Given the description of an element on the screen output the (x, y) to click on. 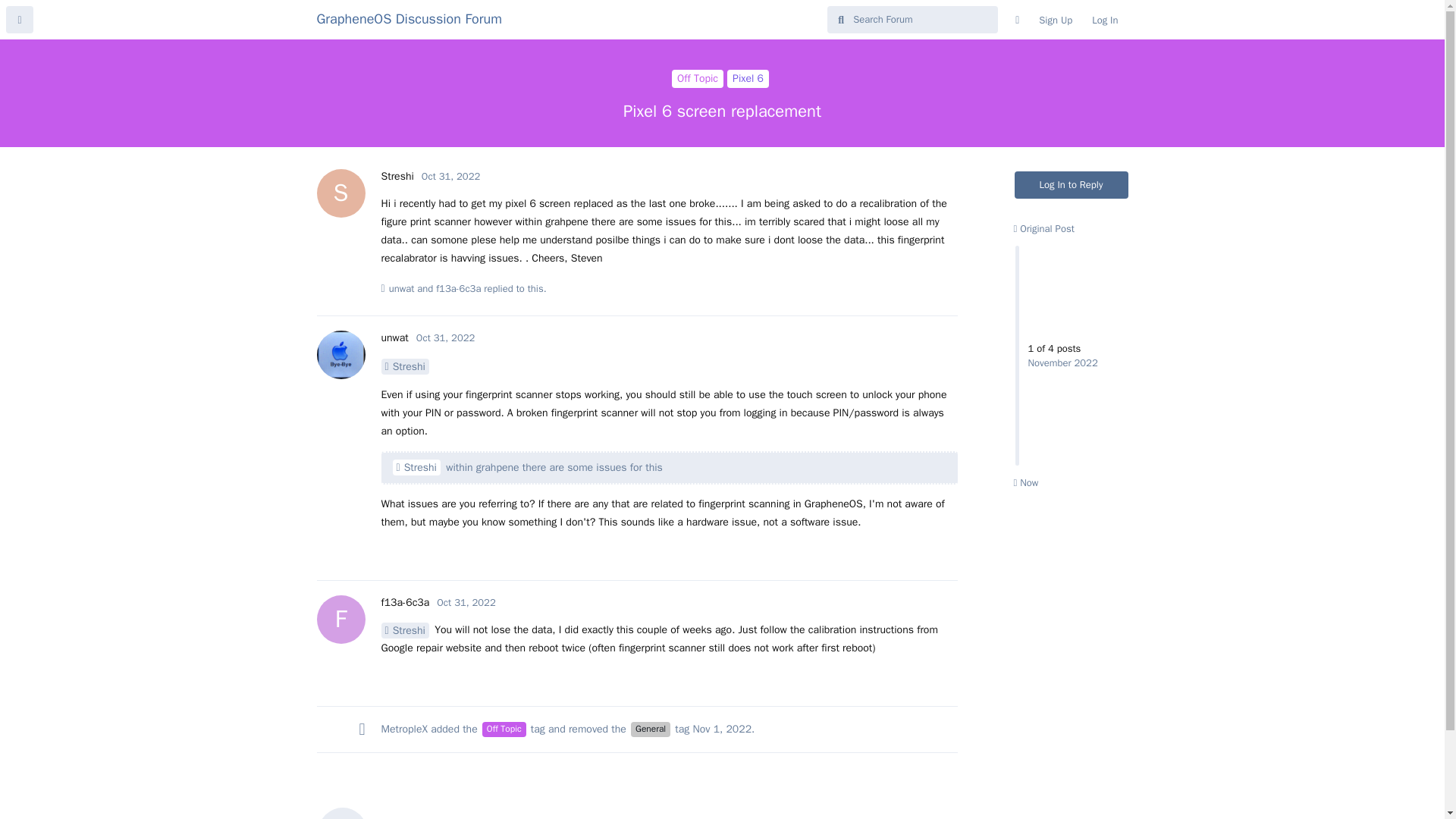
unwat (393, 337)
Monday, October 31, 2022 10:39 PM (451, 175)
f13a-6c3a (396, 175)
Off Topic (404, 602)
Monday, October 31, 2022 11:05 PM (457, 288)
Off Topic (697, 78)
Oct 31, 2022 (465, 602)
Monday, October 31, 2022 11:00 PM (503, 729)
